Given the description of an element on the screen output the (x, y) to click on. 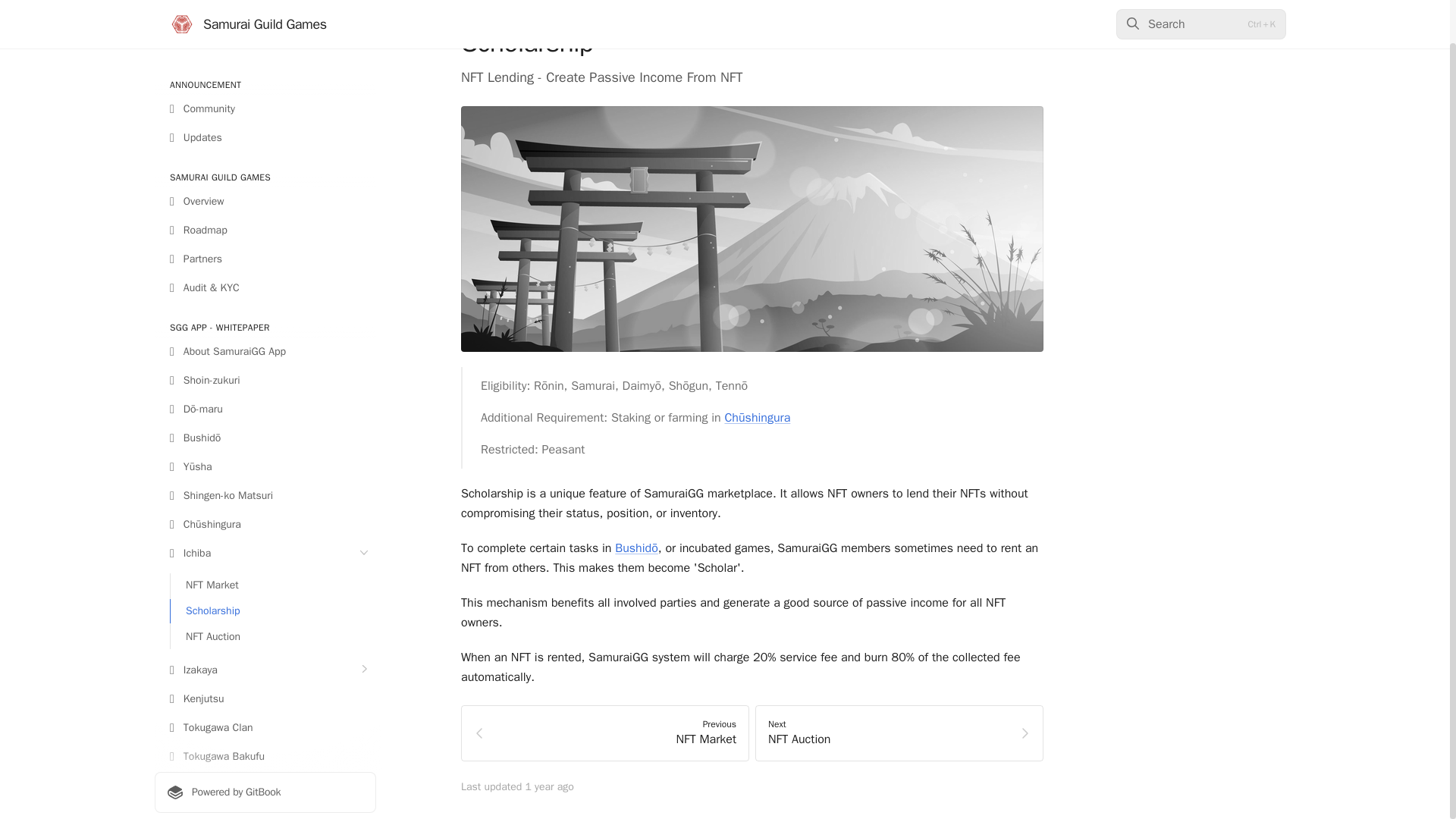
NFT Market (272, 539)
Powered by GitBook (264, 746)
NFT Auction (272, 591)
Scholarship (272, 565)
